Given the description of an element on the screen output the (x, y) to click on. 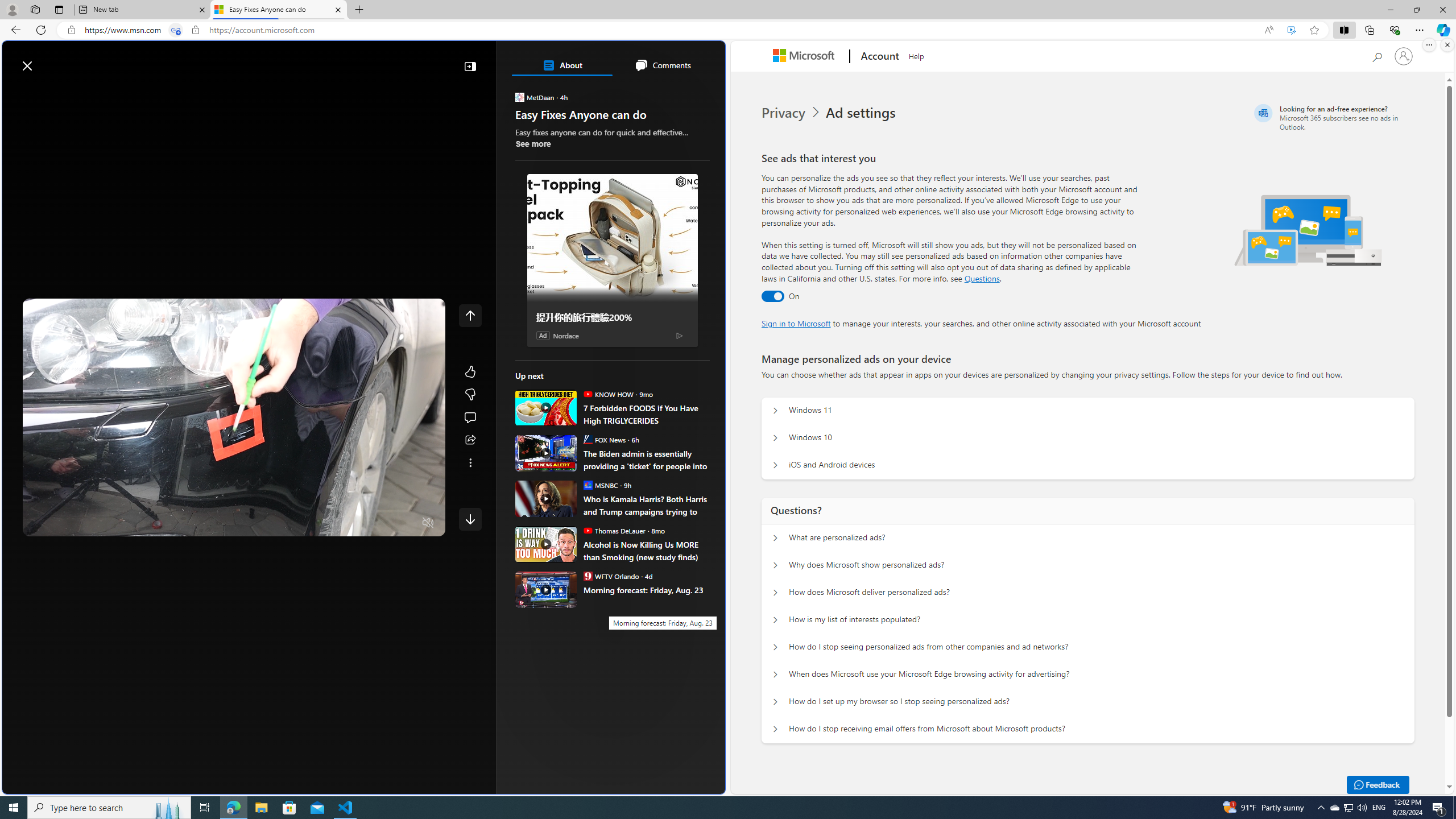
Share this story (469, 440)
Comments (662, 64)
Summer Sale! Up to -55% (616, 571)
More options. (1428, 45)
Search Microsoft.com (1376, 54)
Quality Settings (360, 523)
Thomas DeLauer (587, 529)
